Given the description of an element on the screen output the (x, y) to click on. 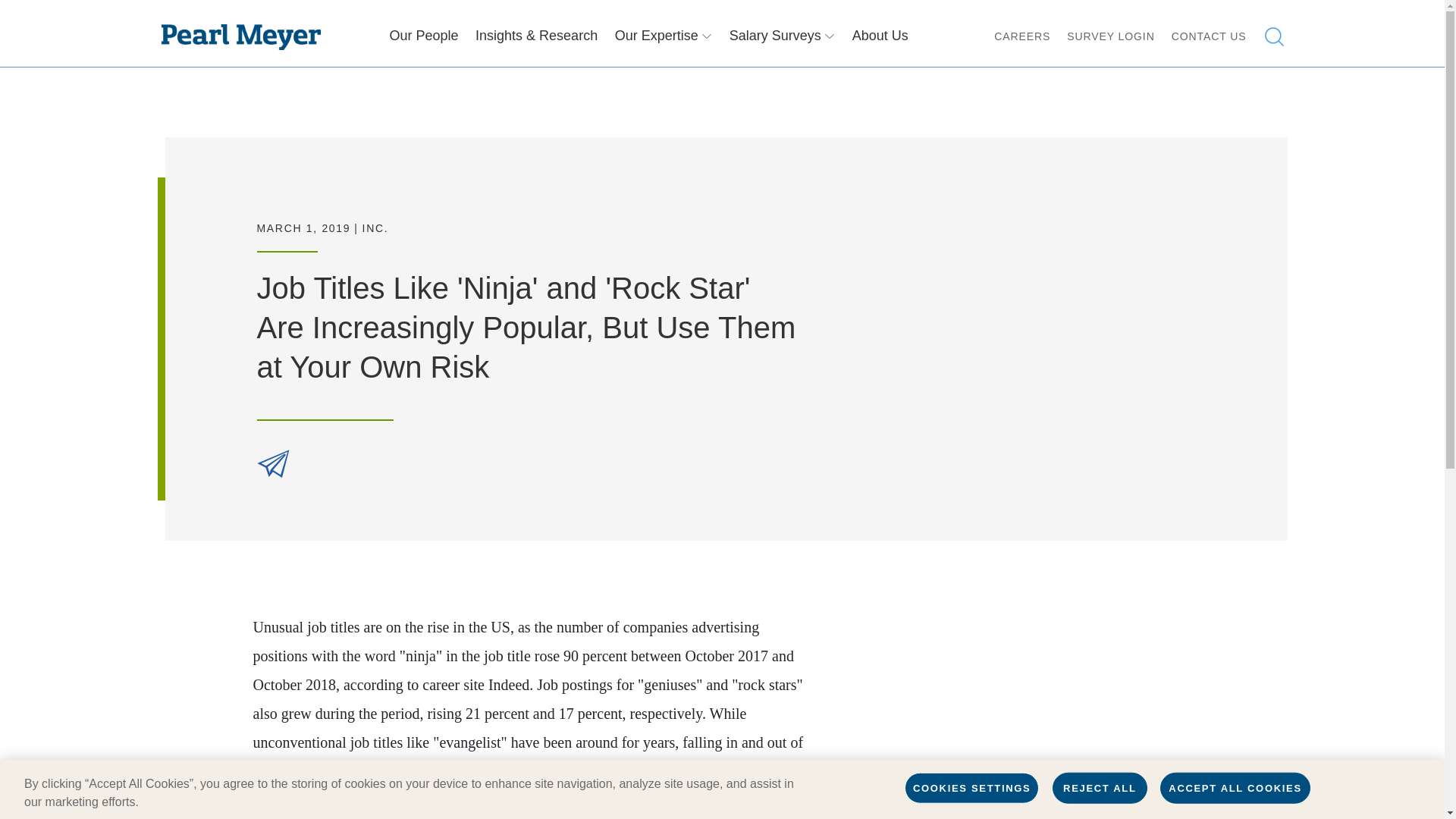
Our People (424, 45)
Our Expertise (663, 45)
Share (272, 463)
Salary Surveys (782, 45)
